Given the description of an element on the screen output the (x, y) to click on. 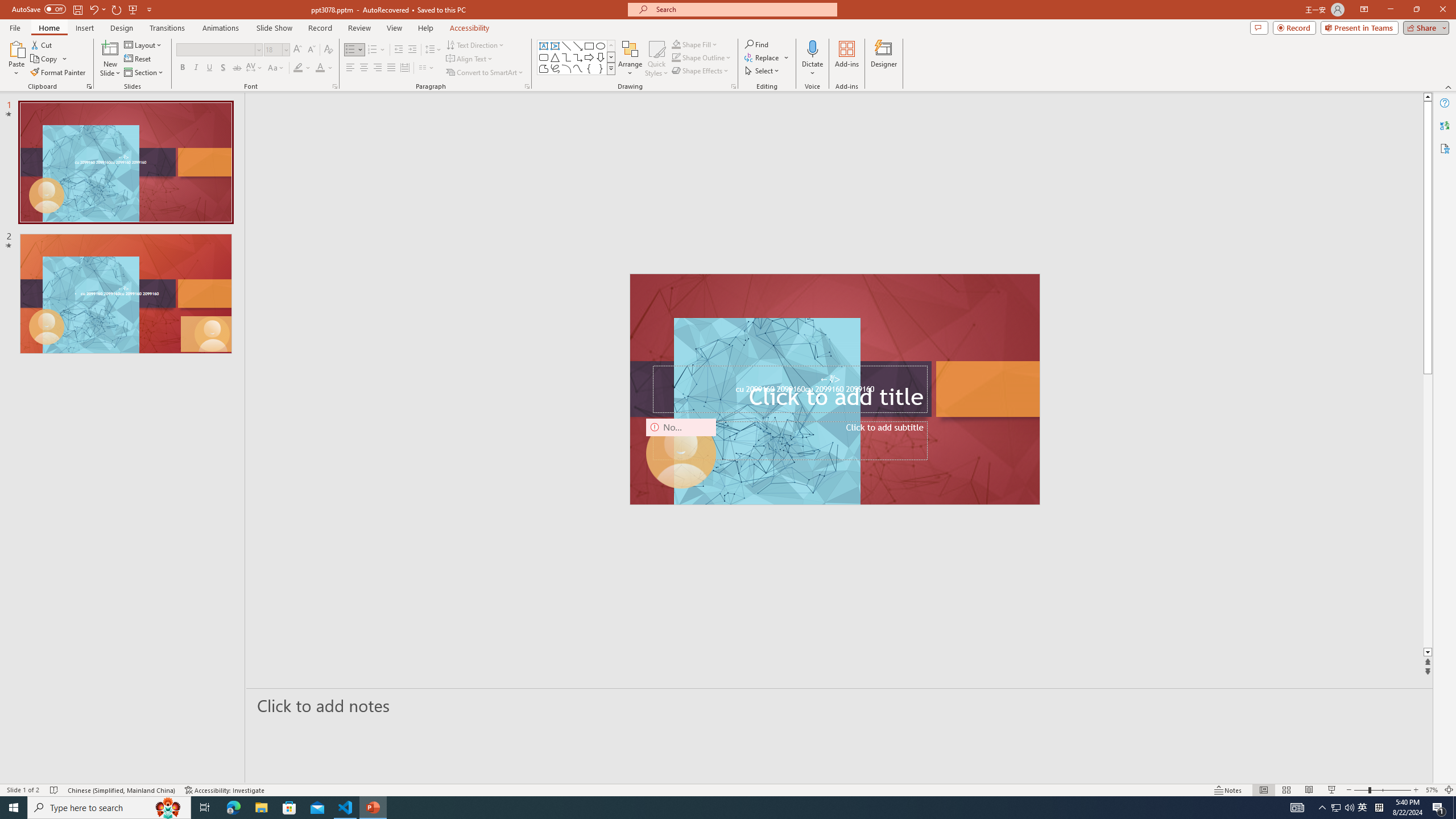
Increase Indent (412, 49)
TextBox 7 (830, 379)
Camera 9, No camera detected. (681, 453)
Quick Styles (656, 58)
Shadow (223, 67)
